Given the description of an element on the screen output the (x, y) to click on. 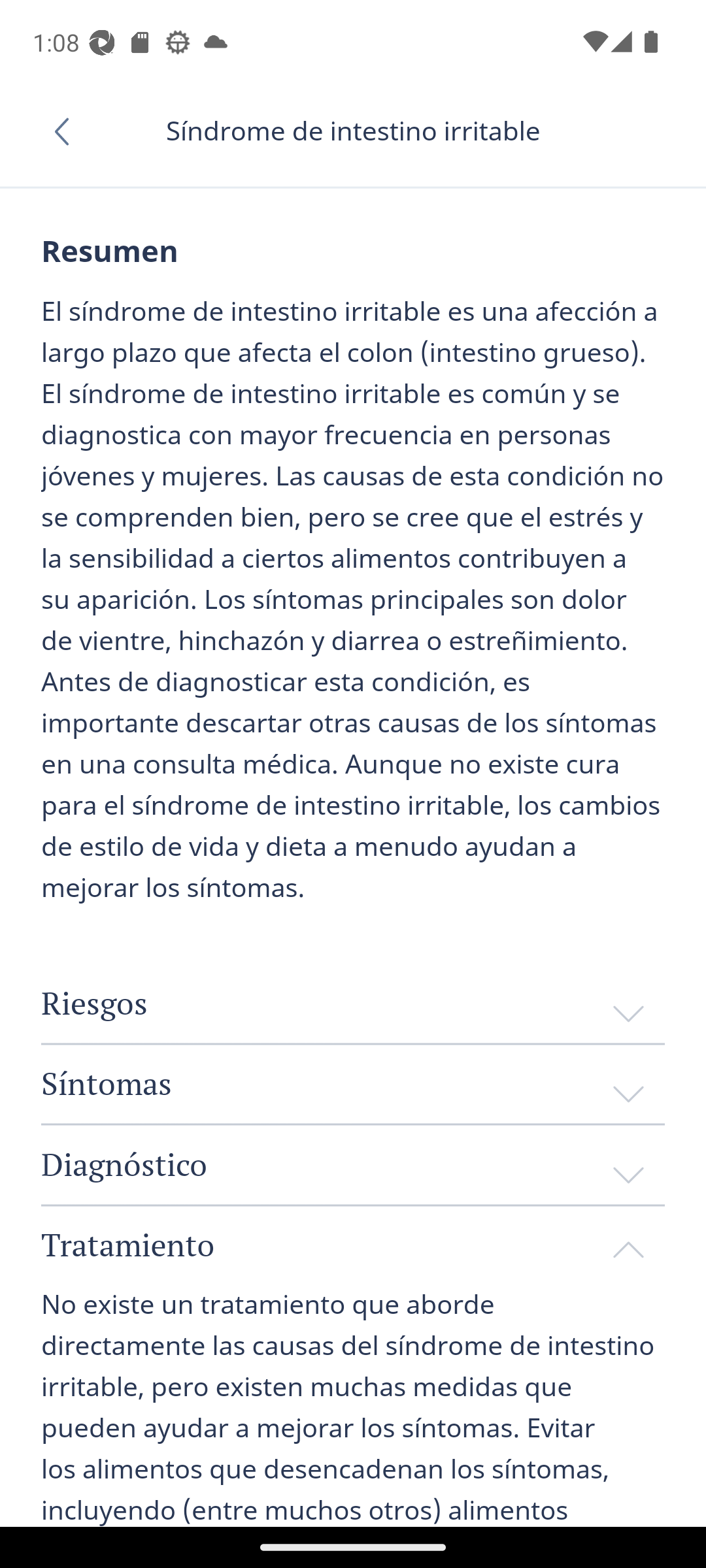
Go back, Navigates to the previous screen (68, 131)
Riesgos  (352, 1003)
Síntomas  (352, 1083)
Diagnóstico  (352, 1164)
Tratamiento  (352, 1244)
